Given the description of an element on the screen output the (x, y) to click on. 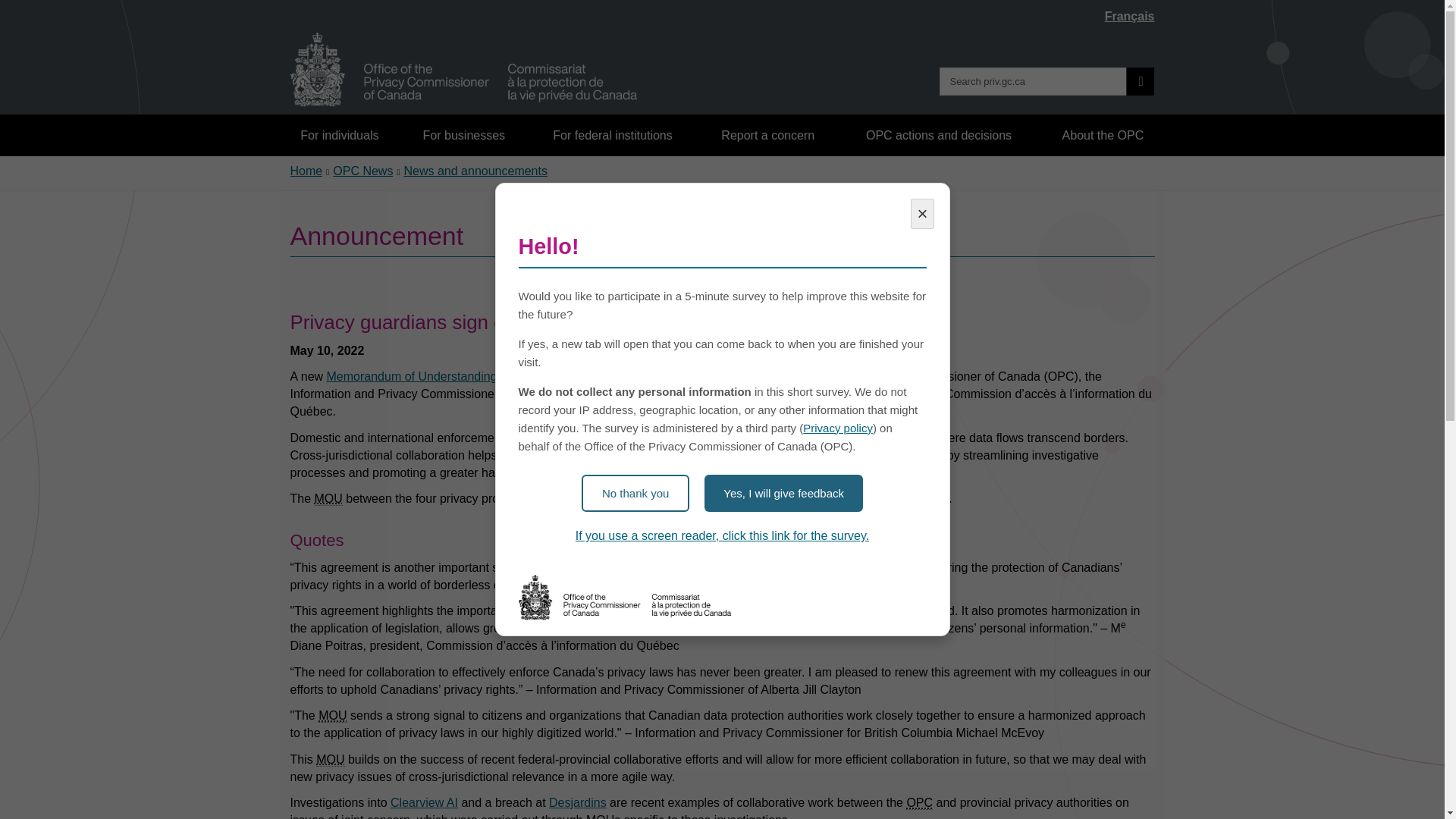
Office of the Privacy Commissioner of Canada (463, 69)
Memorandum of Understanding (332, 715)
For federal institutions (612, 135)
Office of the Privacy Commissioner of Canada (919, 802)
Report a concern (768, 135)
For individuals (340, 135)
Memorandum of Understanding (600, 816)
Memorandum of Understanding (329, 759)
Memorandum of Understanding (328, 499)
Skip to main content (725, 11)
